Given the description of an element on the screen output the (x, y) to click on. 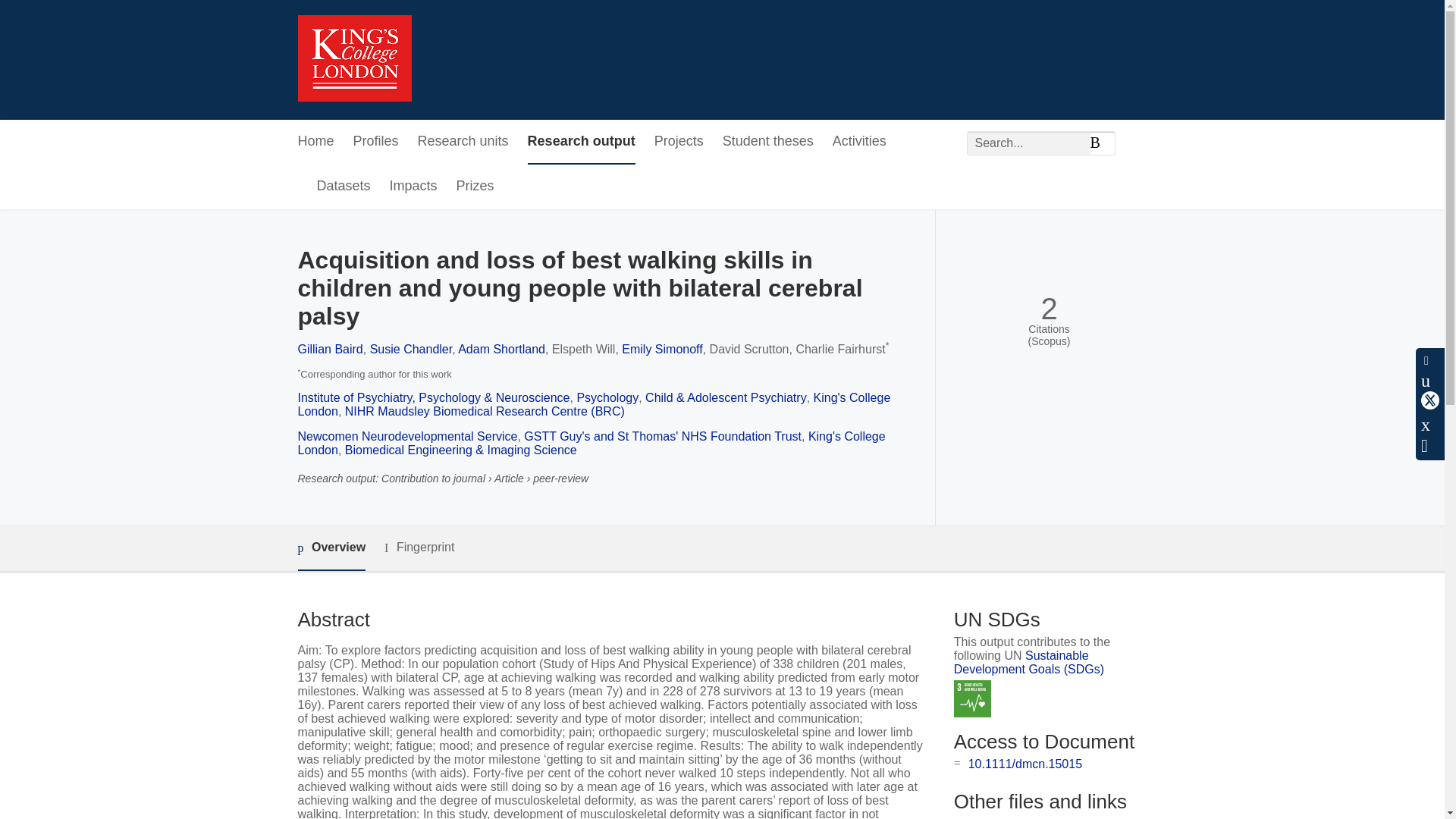
Research output (580, 141)
Emily Simonoff (661, 349)
Prizes (476, 186)
Adam Shortland (501, 349)
King's College London (591, 442)
Psychology (607, 397)
Activities (859, 141)
Projects (678, 141)
King's College London (593, 404)
Research units (462, 141)
SDG 3 - Good Health and Well-being (972, 698)
Fingerprint (419, 547)
Home (315, 141)
GSTT Guy's and St Thomas' NHS Foundation Trust (663, 436)
